Given the description of an element on the screen output the (x, y) to click on. 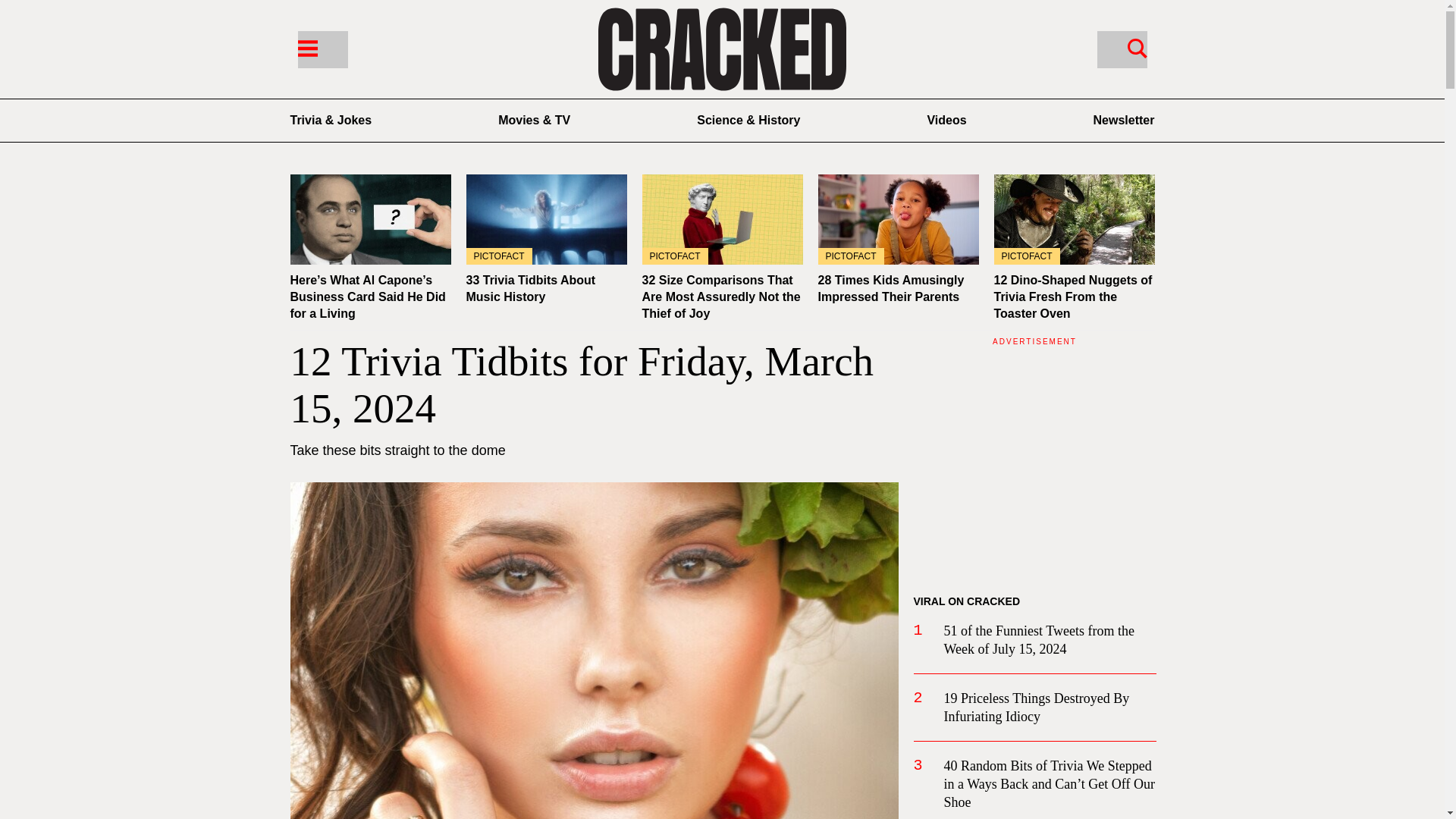
PICTOFACT (897, 219)
Search (1136, 47)
PICTOFACT (1073, 219)
Newsletter (1123, 119)
PICTOFACT (545, 219)
Videos (946, 119)
Menu (322, 48)
12 Dino-Shaped Nuggets of Trivia Fresh From the Toaster Oven (1071, 296)
Search (1121, 48)
Videos (946, 119)
Menu (307, 47)
33 Trivia Tidbits About Music History (545, 219)
28 Times Kids Amusingly Impressed Their Parents (889, 288)
Cracked Newsletter (1123, 119)
